Given the description of an element on the screen output the (x, y) to click on. 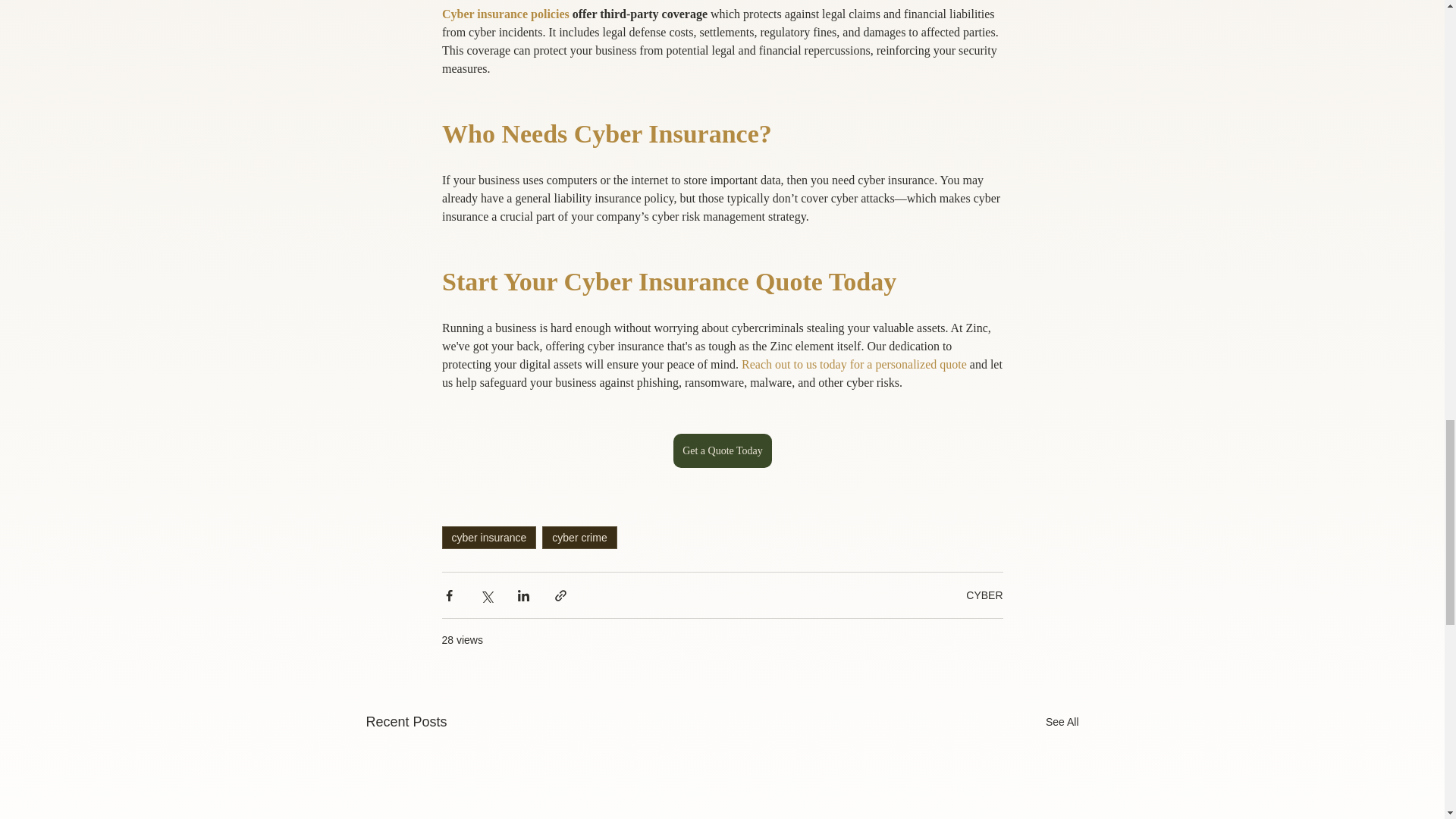
Reach out to us today for a personalized quote (853, 364)
See All (1061, 722)
cyber insurance (488, 537)
cyber crime (578, 537)
Get a Quote Today (721, 450)
CYBER (984, 594)
Cyber insurance policies (505, 13)
